Given the description of an element on the screen output the (x, y) to click on. 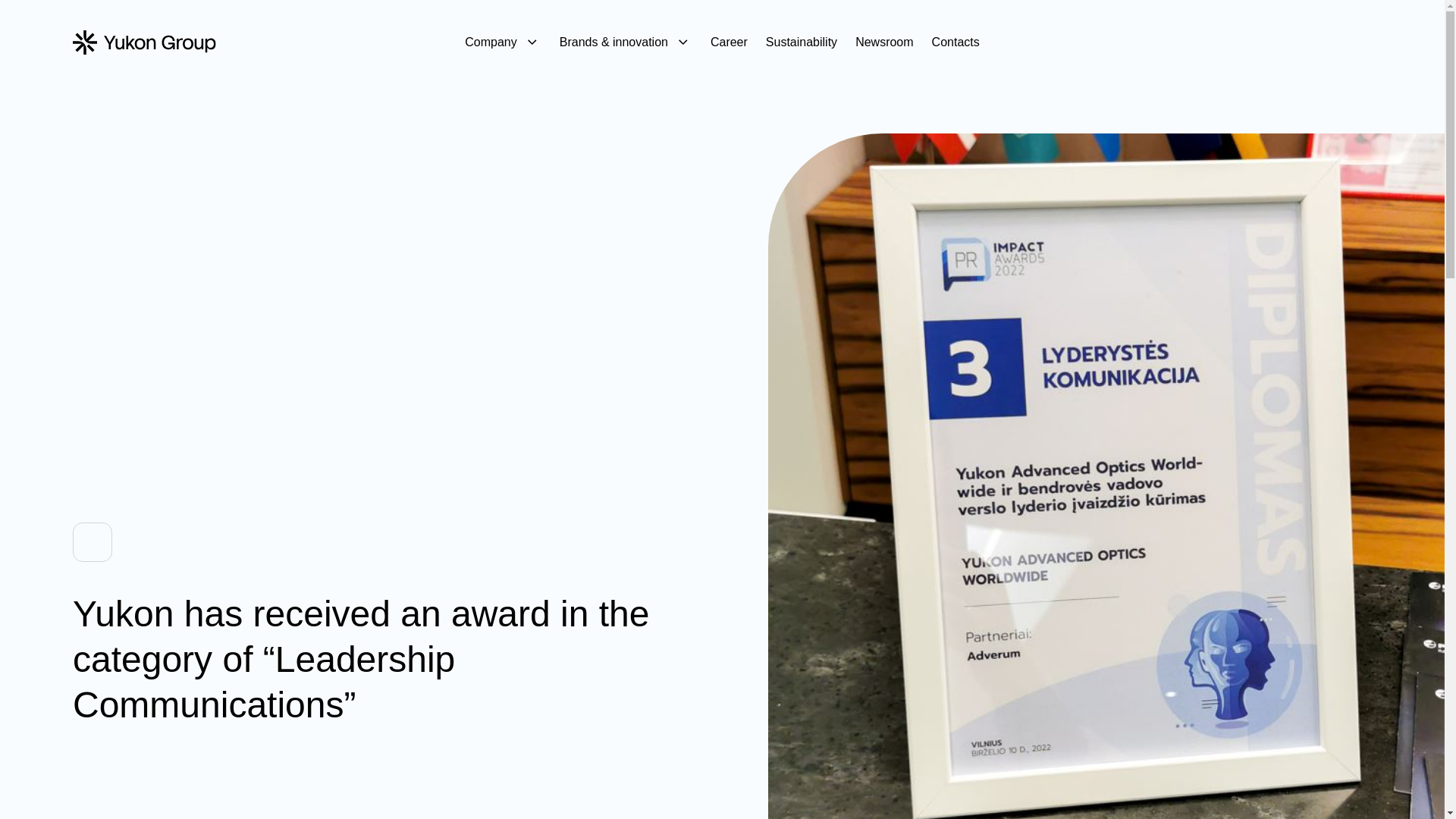
Career (729, 42)
Company (502, 42)
Newsroom (884, 42)
Contacts (955, 42)
Sustainability (801, 42)
